Given the description of an element on the screen output the (x, y) to click on. 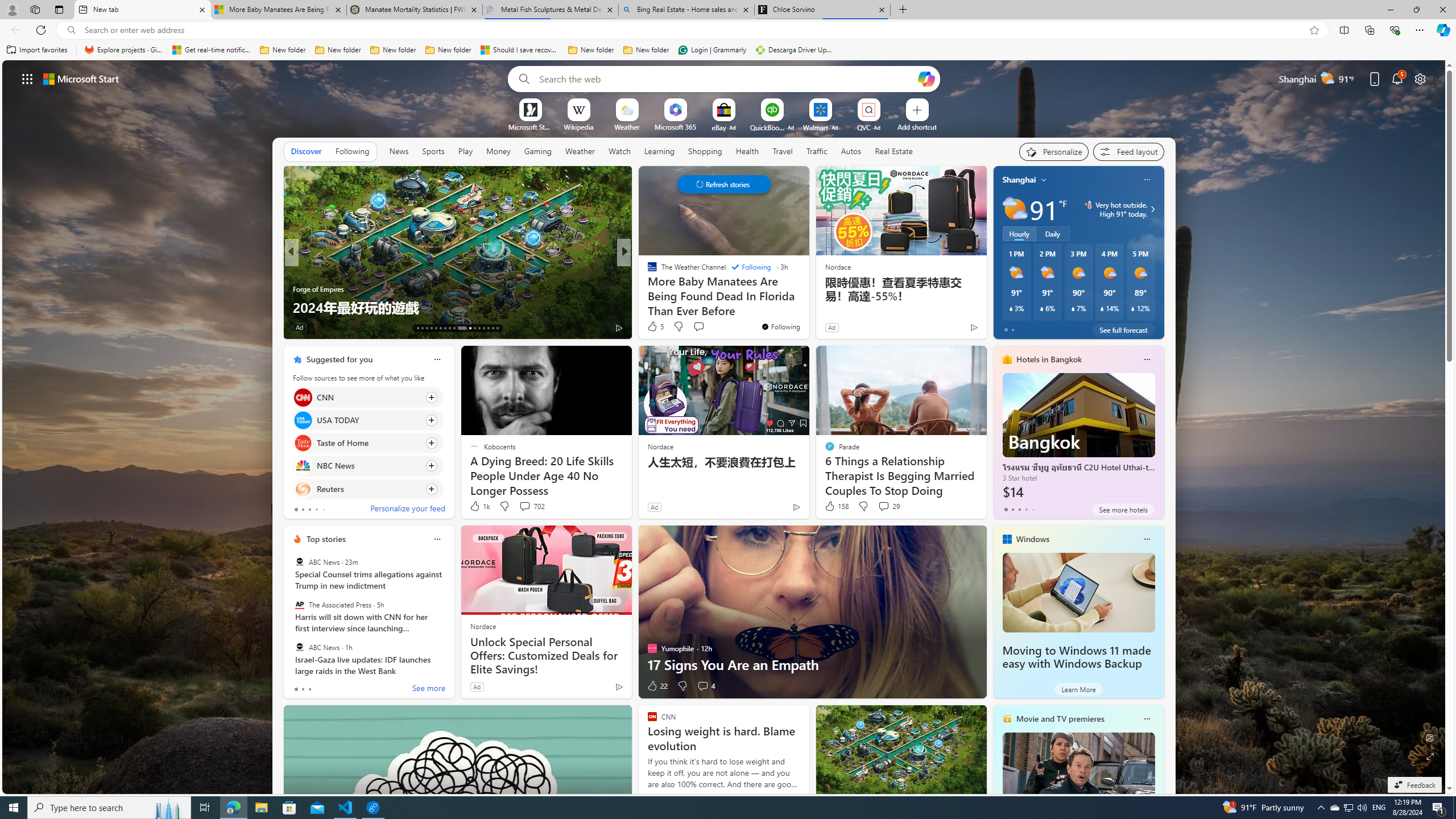
AutomationID: tab-39 (483, 328)
Microsoft start (81, 78)
SlashGear (647, 270)
View comments 5 Comment (705, 327)
Discover (306, 151)
View comments 702 Comment (530, 505)
12 YouTube Features You'll Kick Yourself For Not Using (807, 298)
Travel (782, 151)
See full forecast (1123, 329)
